Given the description of an element on the screen output the (x, y) to click on. 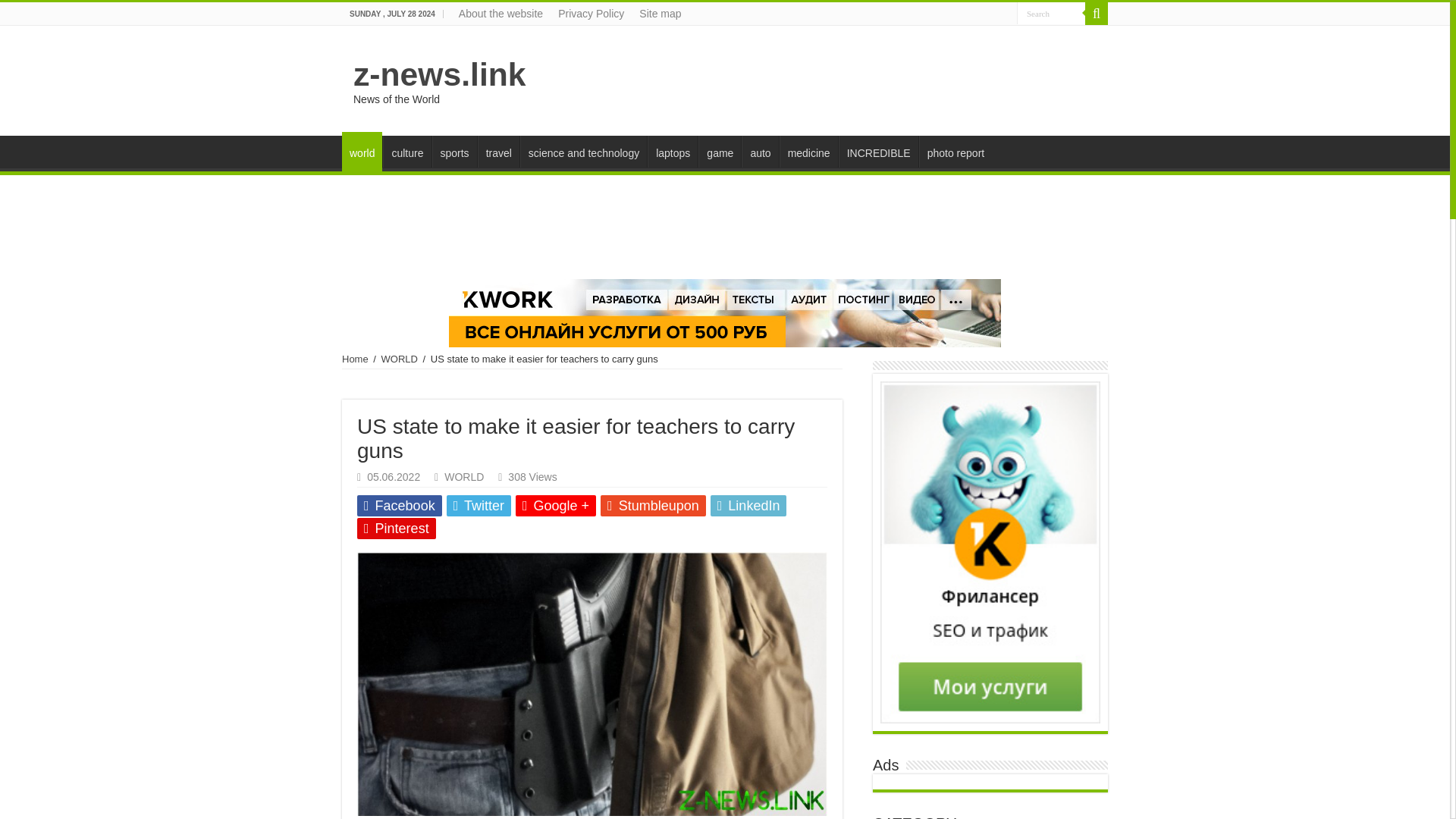
Search (1096, 13)
About the website (500, 13)
WORLD (399, 358)
photo report (955, 151)
science and technology (582, 151)
Search (1050, 13)
culture (406, 151)
auto (759, 151)
z-news.link (439, 74)
Pinterest (395, 527)
sports (454, 151)
LinkedIn (748, 505)
Search (1050, 13)
Facebook (399, 505)
Stumbleupon (652, 505)
